Given the description of an element on the screen output the (x, y) to click on. 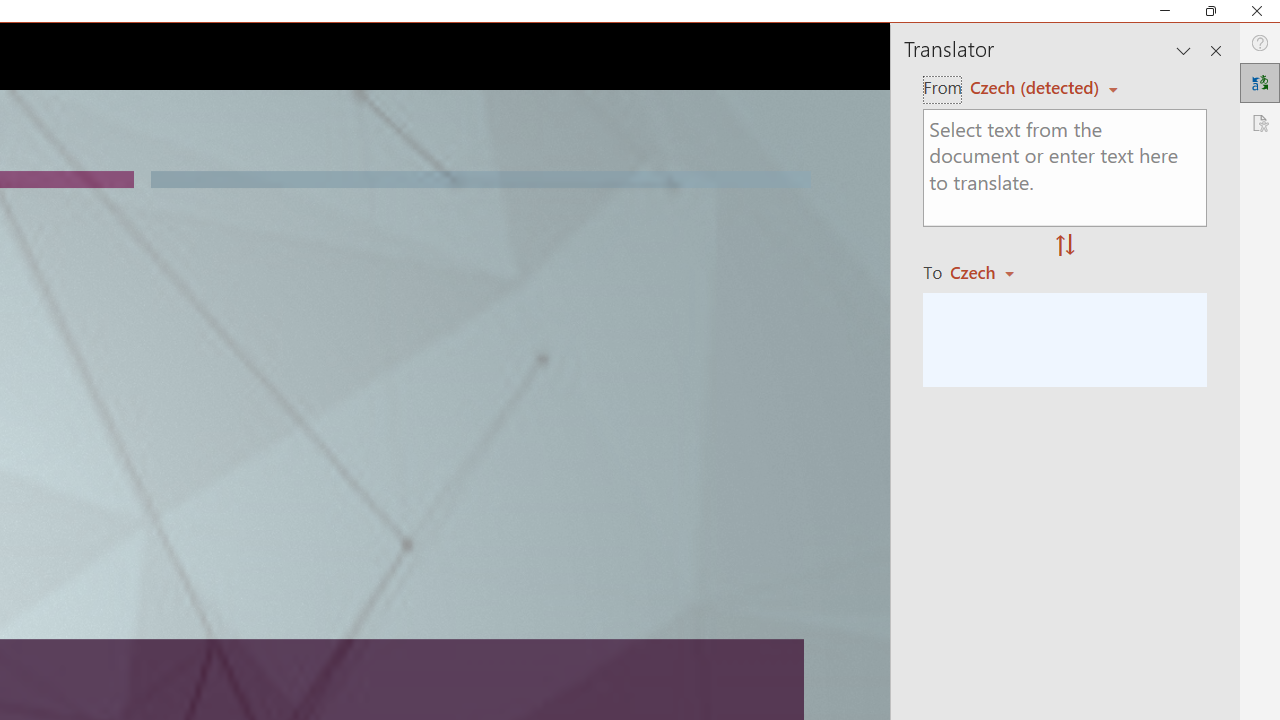
Czech (991, 272)
Czech (detected) (1037, 87)
Swap "from" and "to" languages. (1065, 245)
